Given the description of an element on the screen output the (x, y) to click on. 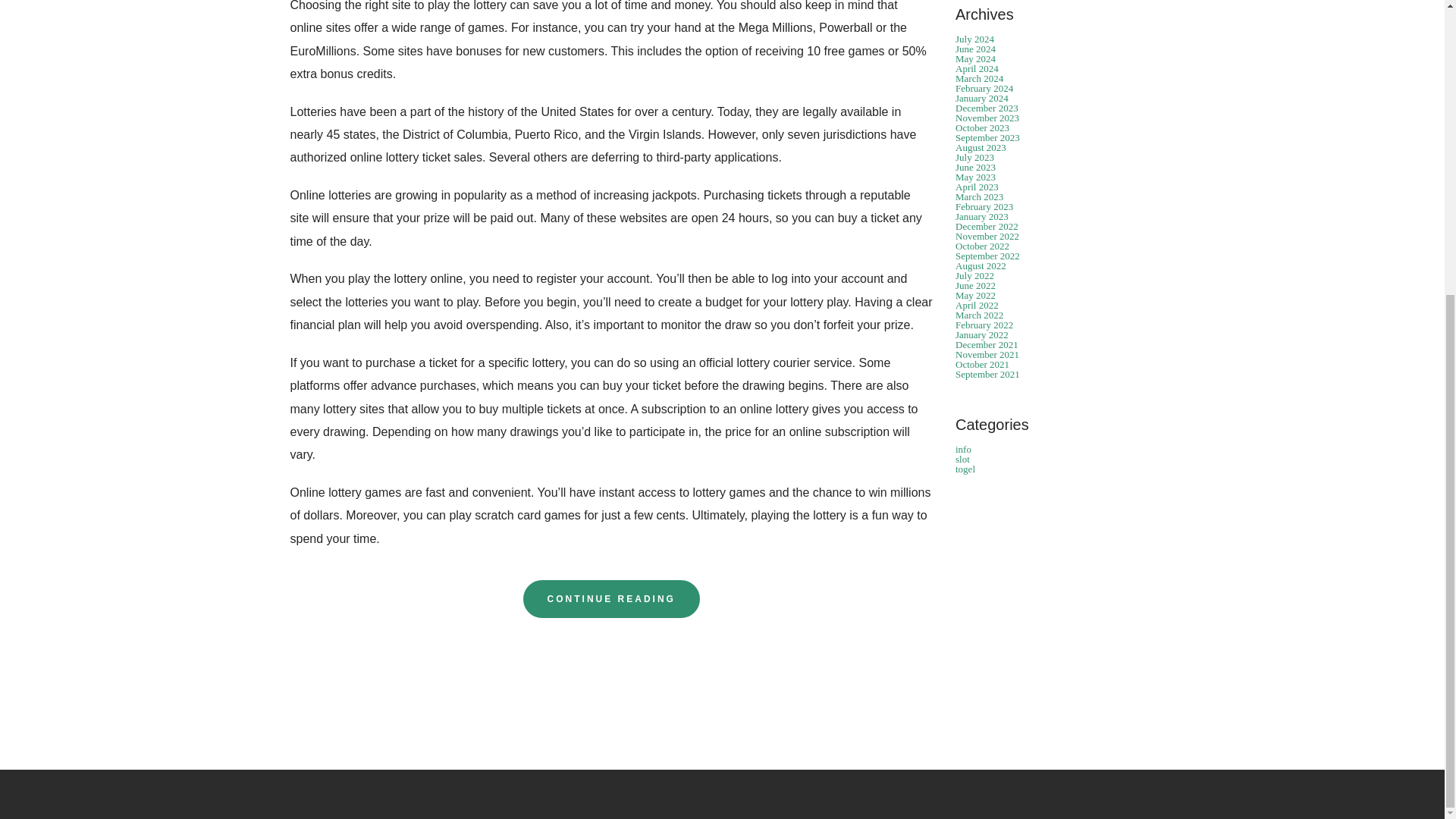
February 2023 (984, 206)
July 2022 (974, 275)
March 2024 (979, 78)
CONTINUE READING (611, 598)
May 2024 (975, 58)
April 2024 (976, 68)
August 2022 (980, 265)
October 2022 (982, 245)
October 2023 (982, 127)
December 2023 (986, 107)
July 2023 (974, 156)
February 2024 (984, 88)
July 2024 (974, 39)
August 2023 (980, 147)
January 2023 (982, 215)
